Given the description of an element on the screen output the (x, y) to click on. 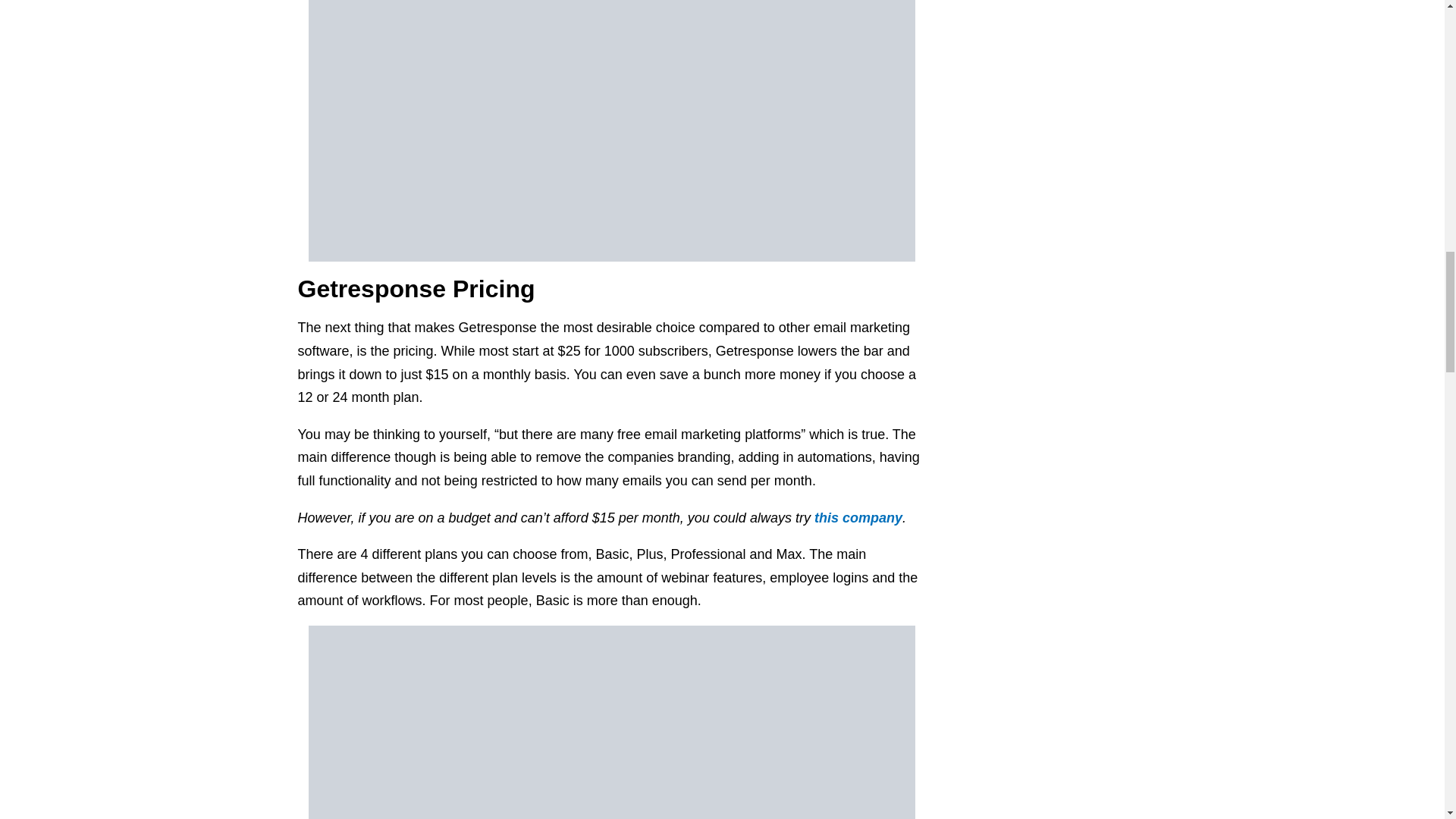
this company (857, 517)
